Given the description of an element on the screen output the (x, y) to click on. 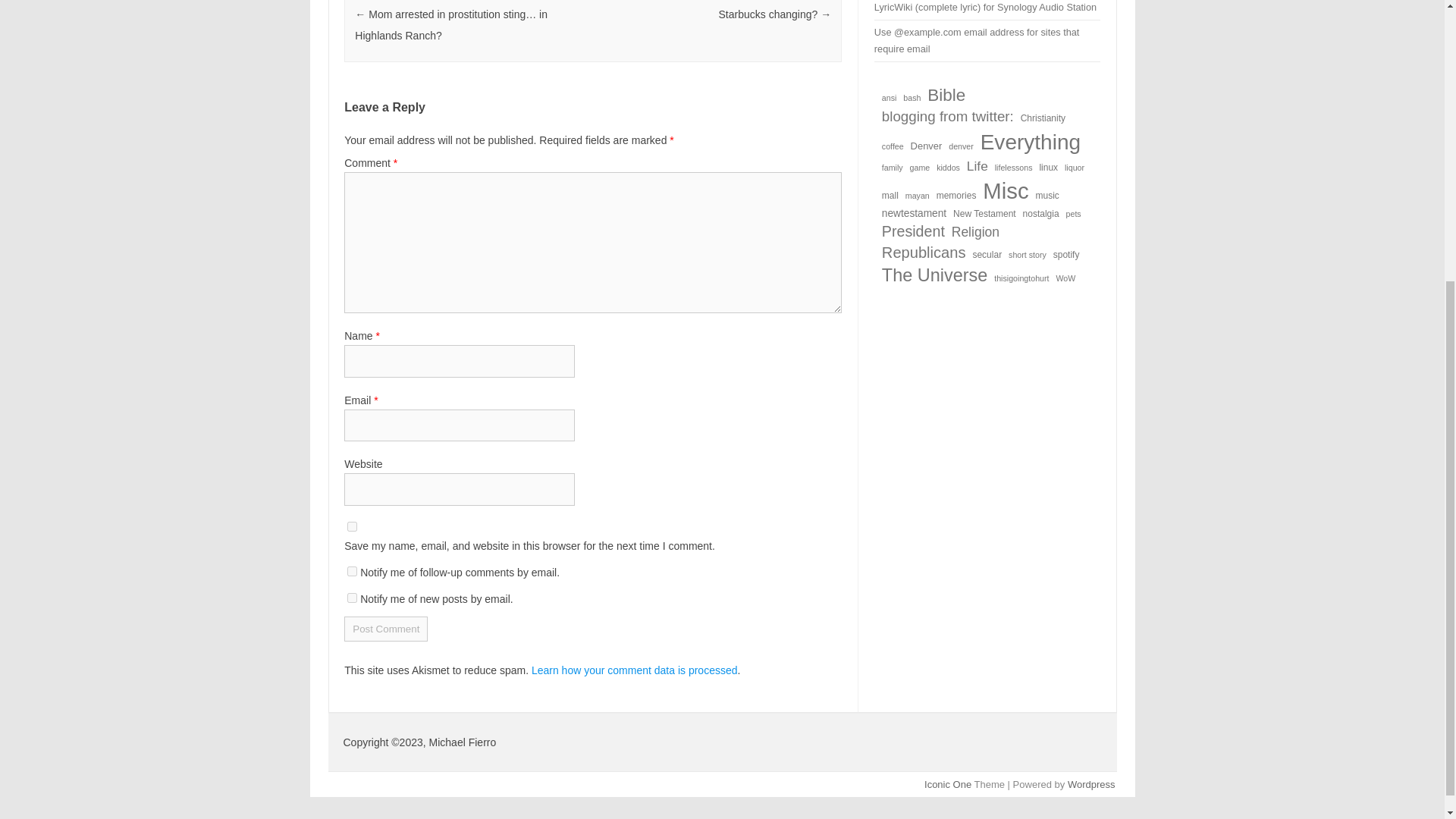
family (892, 167)
Denver (926, 146)
blogging from twitter: (947, 116)
Post Comment (385, 628)
Everything (1029, 142)
bash (911, 98)
game (920, 167)
memories (956, 195)
subscribe (351, 597)
yes (351, 526)
